Given the description of an element on the screen output the (x, y) to click on. 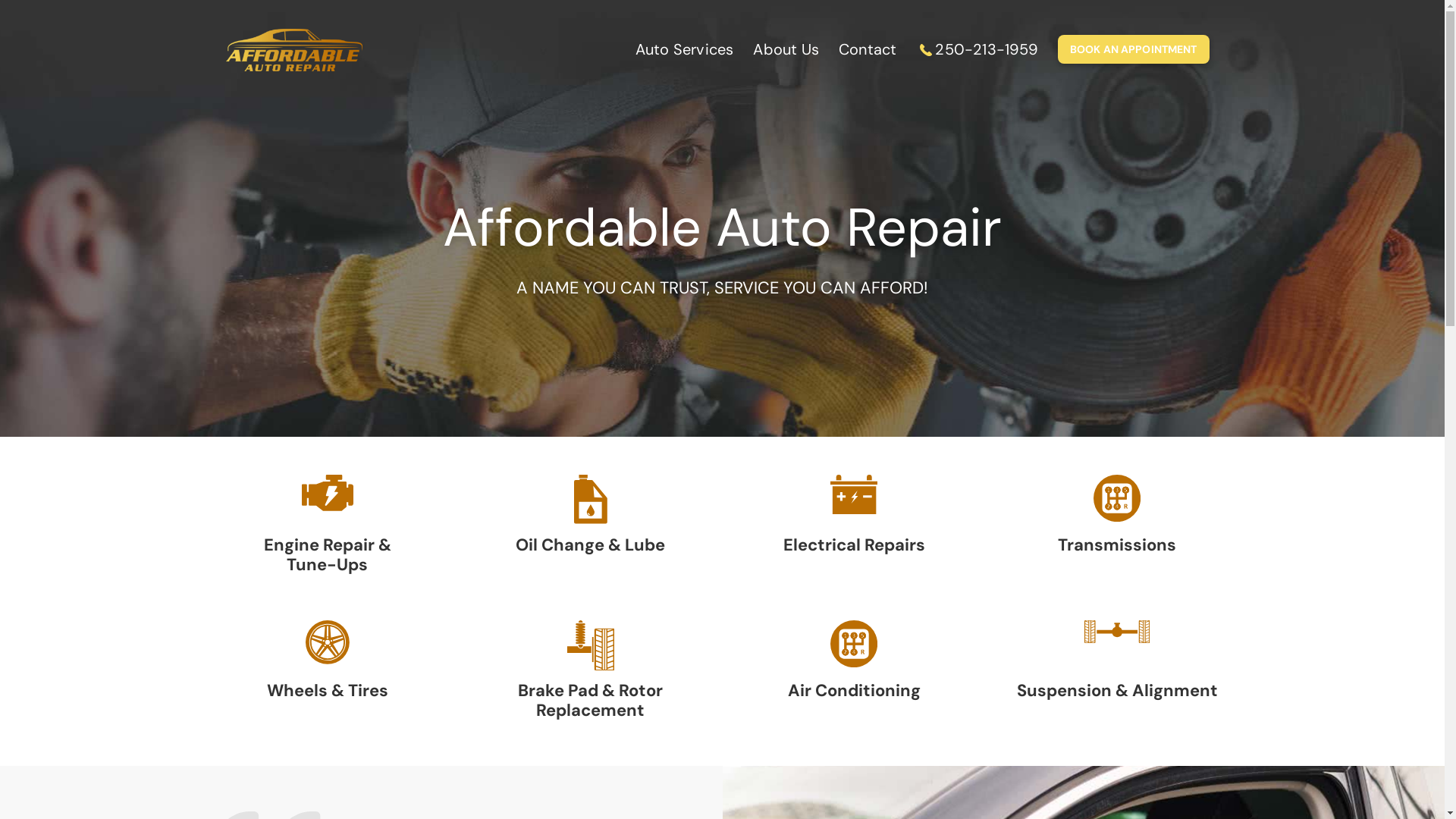
Contact Element type: text (867, 51)
250-213-1959 Element type: text (976, 51)
BOOK AN APPOINTMENT Element type: text (1133, 49)
We provide local engine tune-ups and repairs. Element type: hover (327, 492)
Auto Services Element type: text (684, 51)
About Us Element type: text (785, 51)
